Given the description of an element on the screen output the (x, y) to click on. 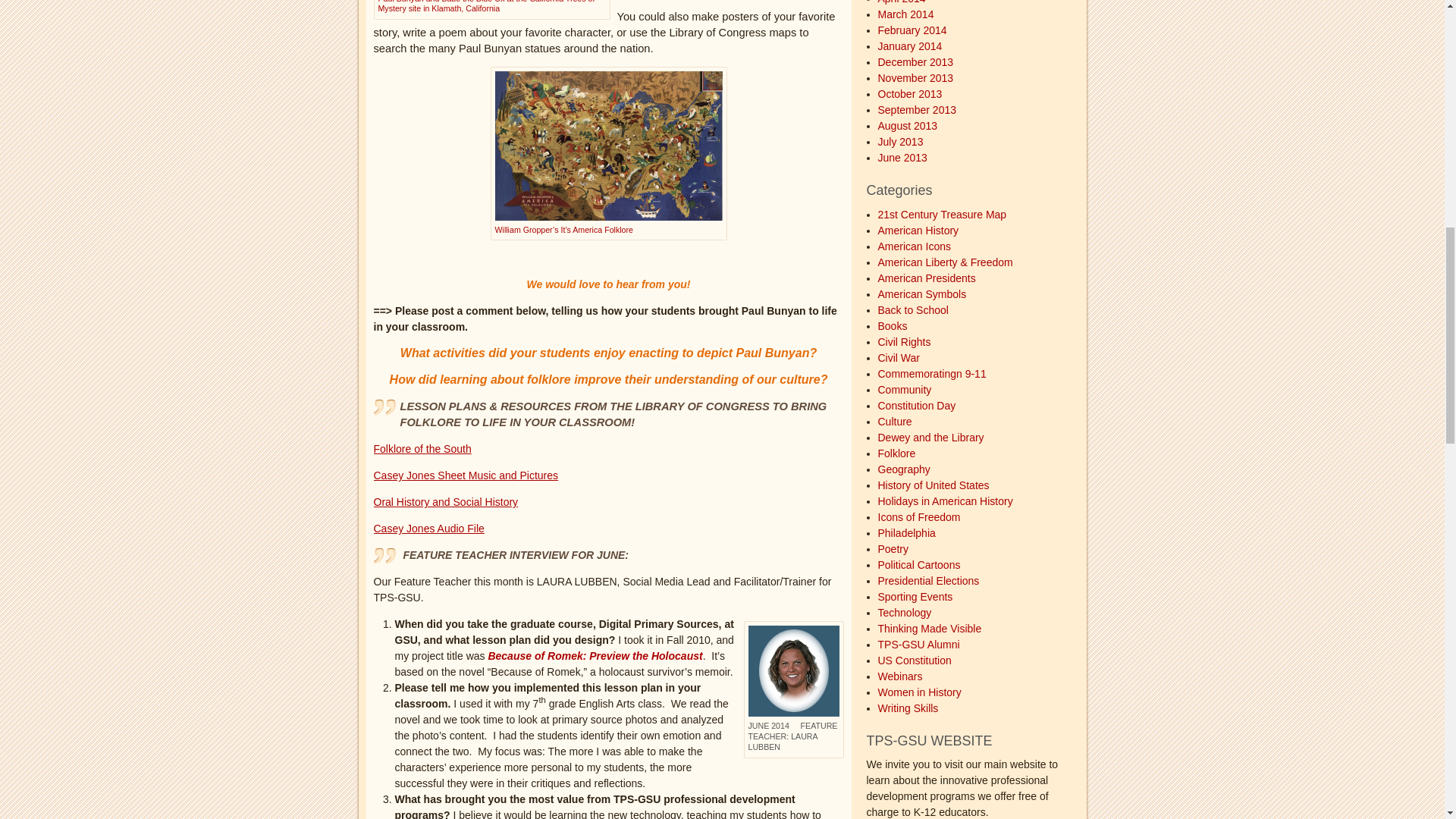
Because of Romek: Preview the Holocaust (594, 655)
Casey Jones Sheet Music and Pictures (464, 475)
Oral History and Social History (445, 501)
Click Here to View this Lesson Plan (594, 655)
Casey Jones Audio File (427, 528)
Folklore of the South (421, 449)
